Given the description of an element on the screen output the (x, y) to click on. 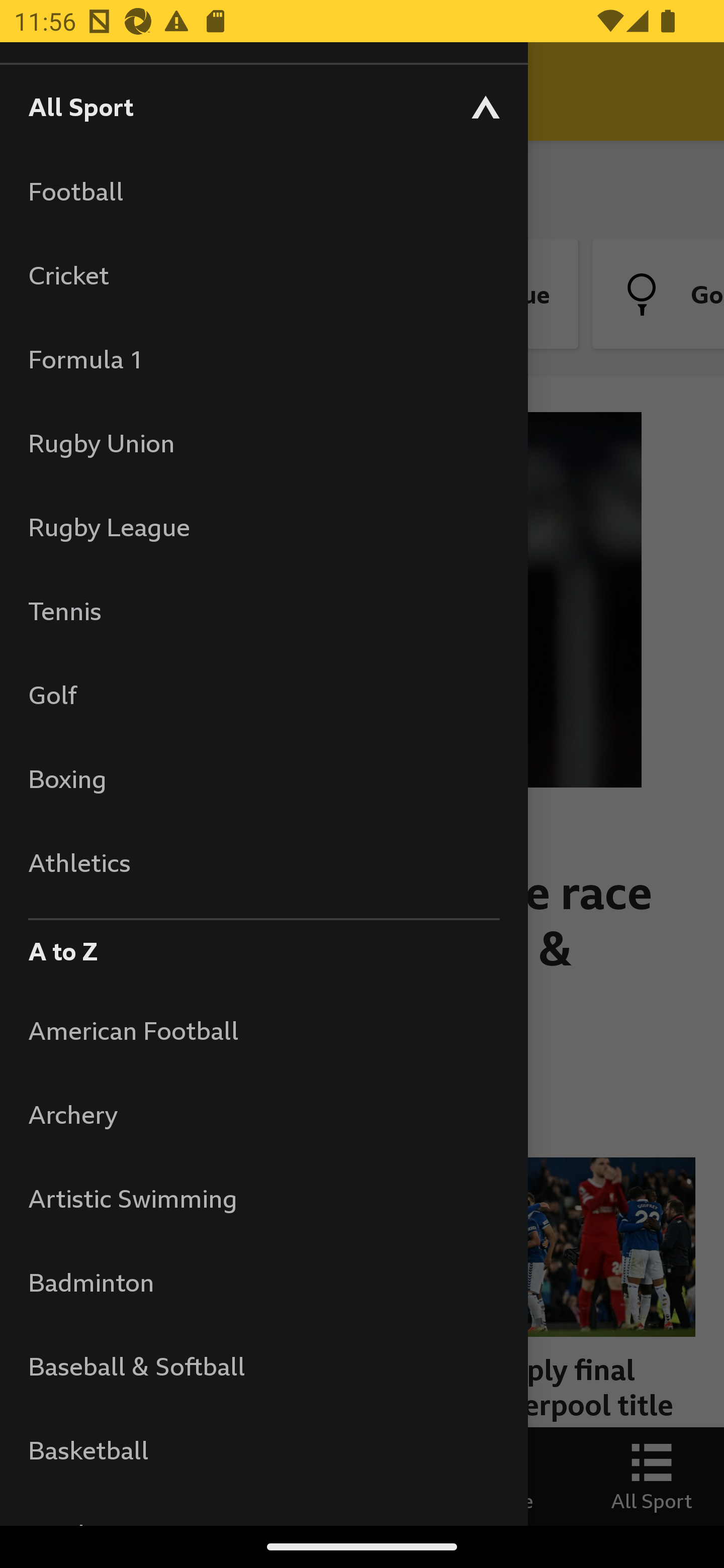
All Sport (263, 105)
Football (263, 190)
Cricket (263, 274)
Formula 1 (263, 358)
Rugby Union (263, 441)
Rugby League (263, 526)
Tennis (263, 609)
Golf (263, 694)
Boxing (263, 778)
Athletics (263, 862)
A to Z (263, 945)
American Football (263, 1029)
Archery (263, 1114)
Artistic Swimming (263, 1197)
Badminton (263, 1282)
Baseball & Softball (263, 1365)
Basketball (263, 1450)
